Given the description of an element on the screen output the (x, y) to click on. 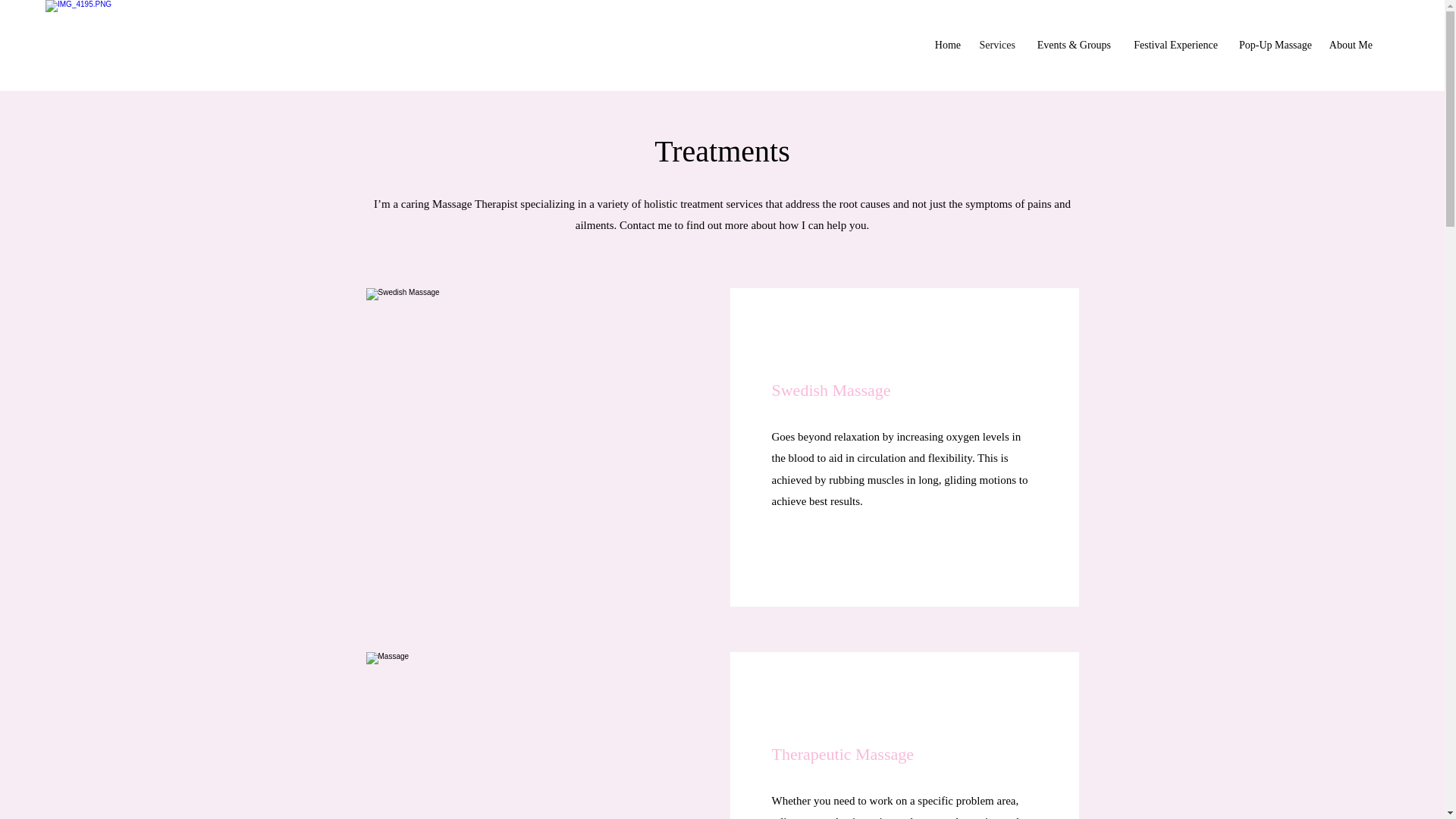
Pop-Up Massage (1272, 45)
Festival Experience (1171, 45)
About Me (1349, 45)
Services (995, 45)
Home (946, 45)
